Given the description of an element on the screen output the (x, y) to click on. 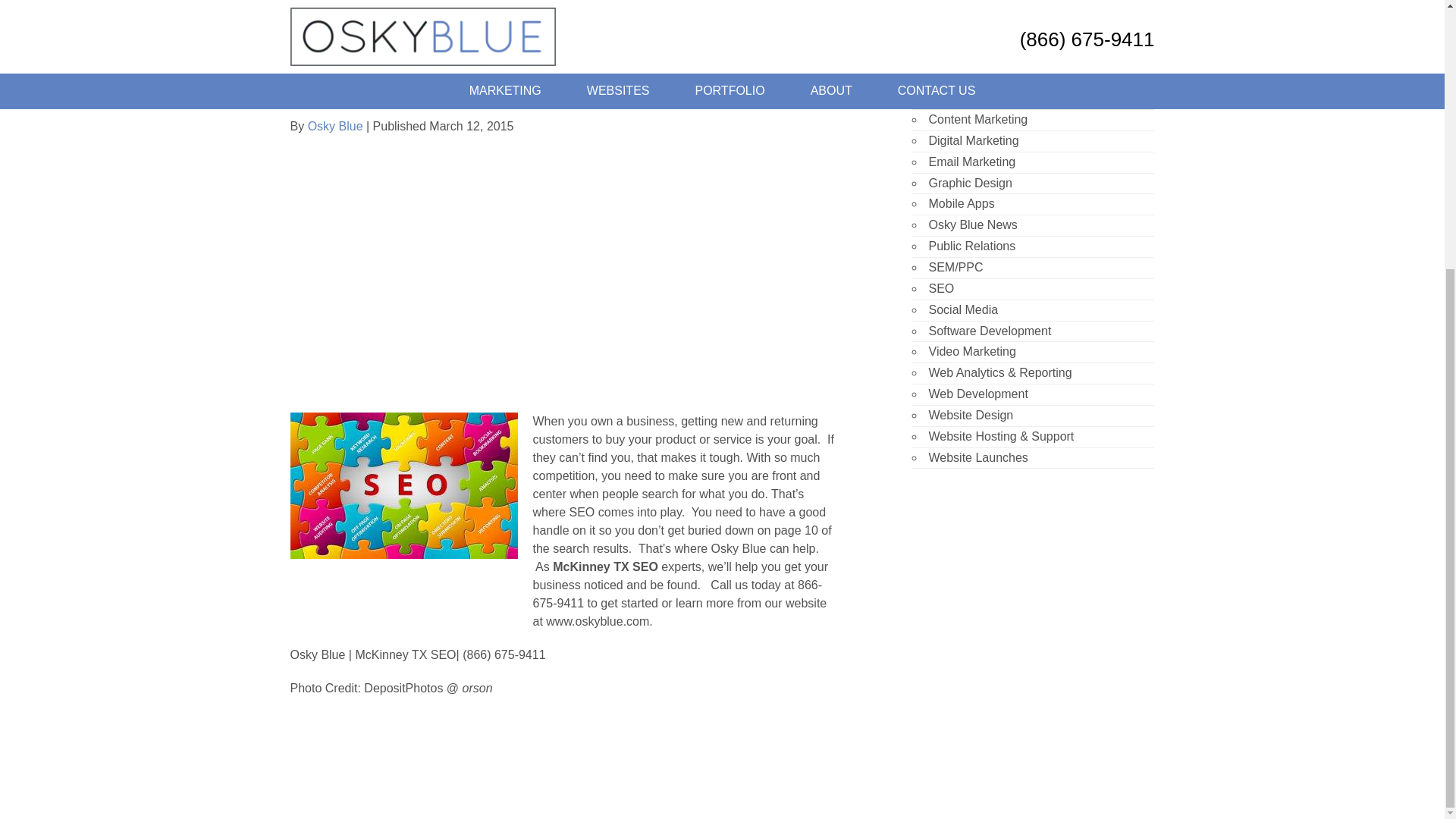
Graphic Design (969, 182)
Digital Marketing (972, 140)
Content Marketing (977, 119)
Email Marketing (971, 161)
Osky Blue (334, 125)
Case Studies (964, 76)
Content Management Systems (1011, 97)
McKinney TX SEO (402, 485)
Posts by Osky Blue (334, 125)
